Given the description of an element on the screen output the (x, y) to click on. 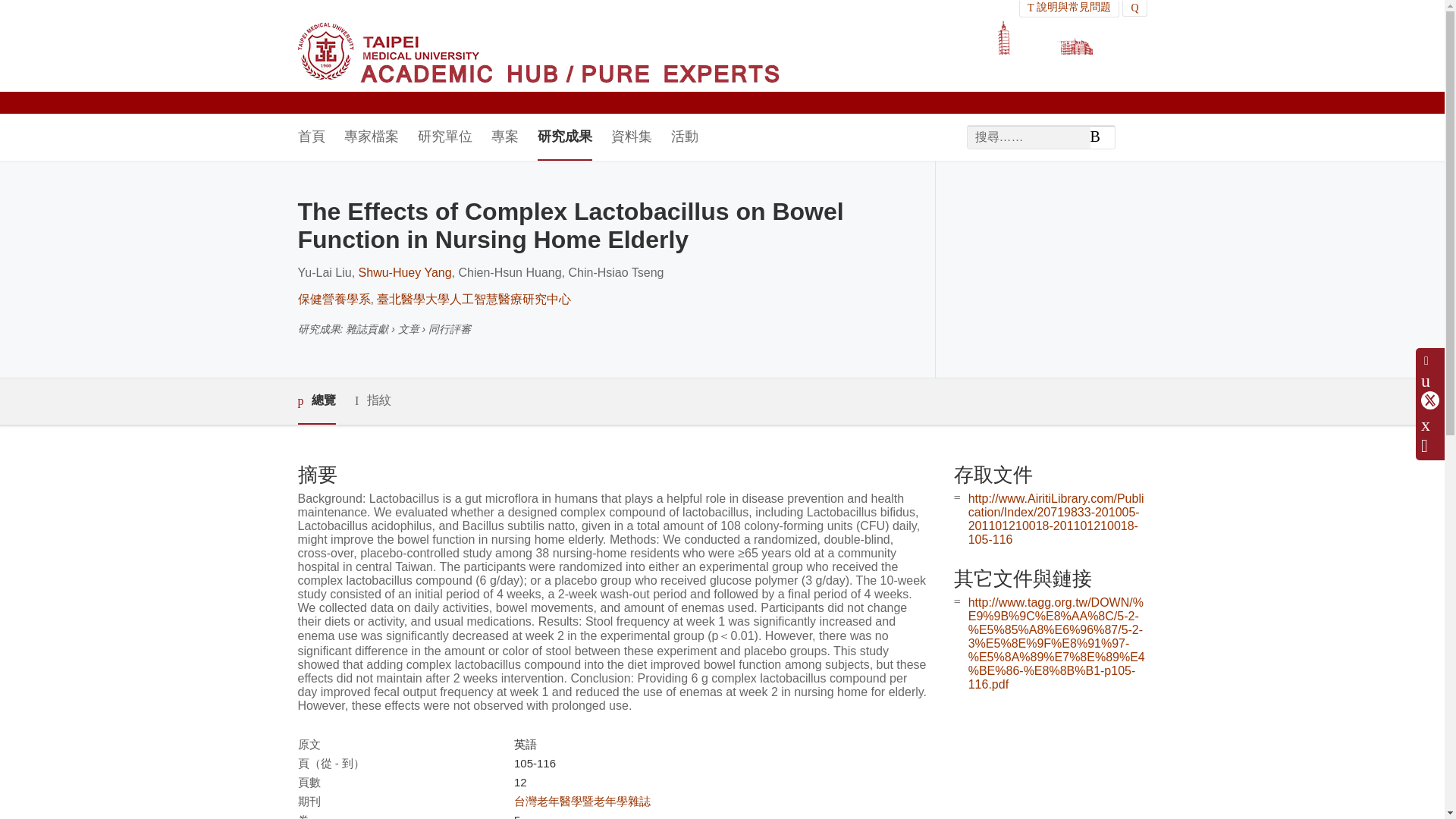
Shwu-Huey Yang (404, 272)
